Given the description of an element on the screen output the (x, y) to click on. 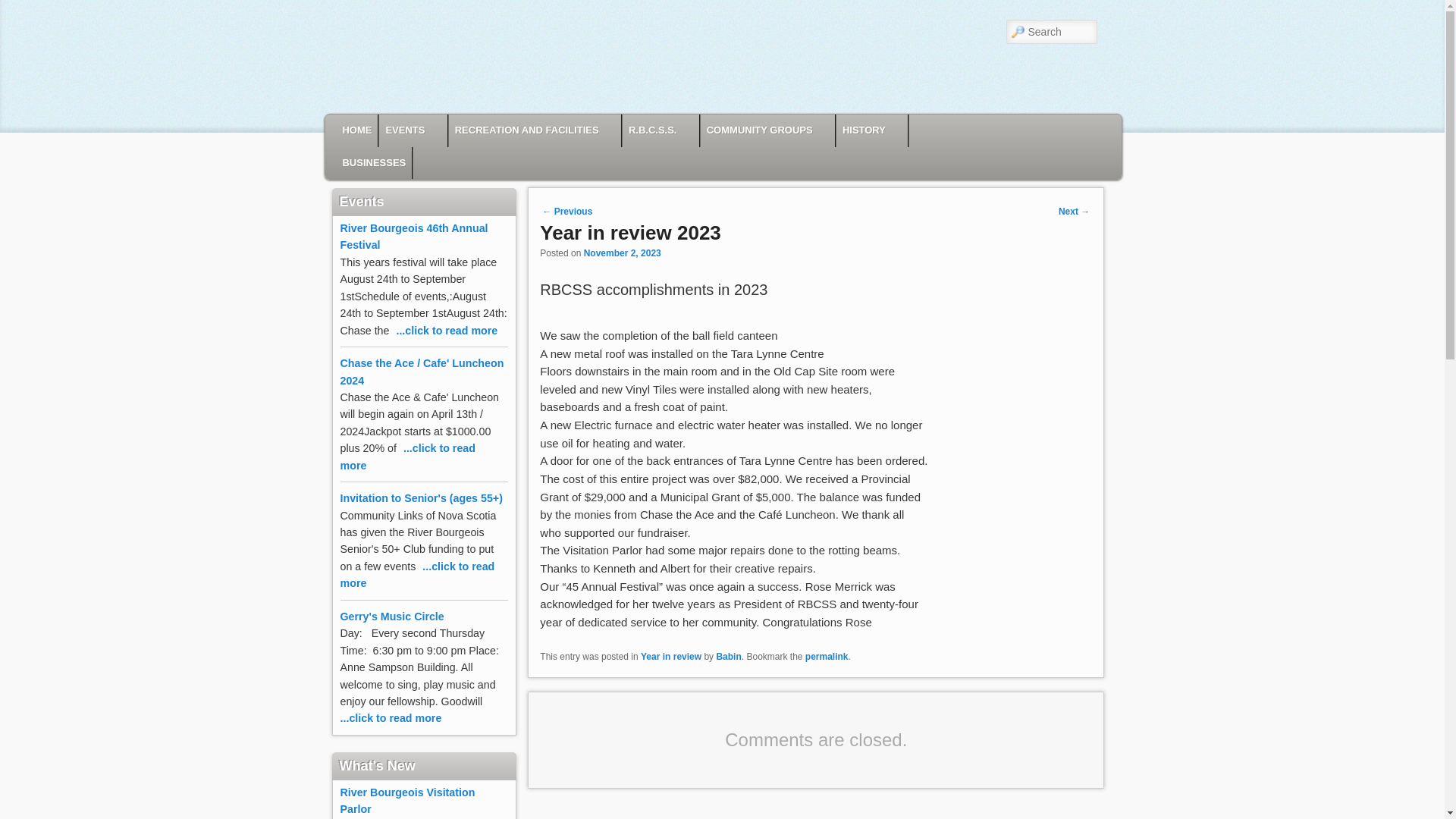
River Bourgeois 46th Annual Festival (445, 330)
7:08 am (622, 253)
...click to read more (406, 456)
permalink (826, 656)
BUSINESSES (374, 163)
Skip to secondary content (432, 128)
HOME (356, 130)
River Bourgeois Visitation Parlor (406, 800)
November 2, 2023 (622, 253)
River Bourgeois 46th Annual Festival (413, 235)
Babin (728, 656)
Gerry's Music Circle (412, 726)
SKIP TO PRIMARY CONTENT (421, 128)
Permalink to Year in review 2023 (826, 656)
...click to read more (445, 330)
